Given the description of an element on the screen output the (x, y) to click on. 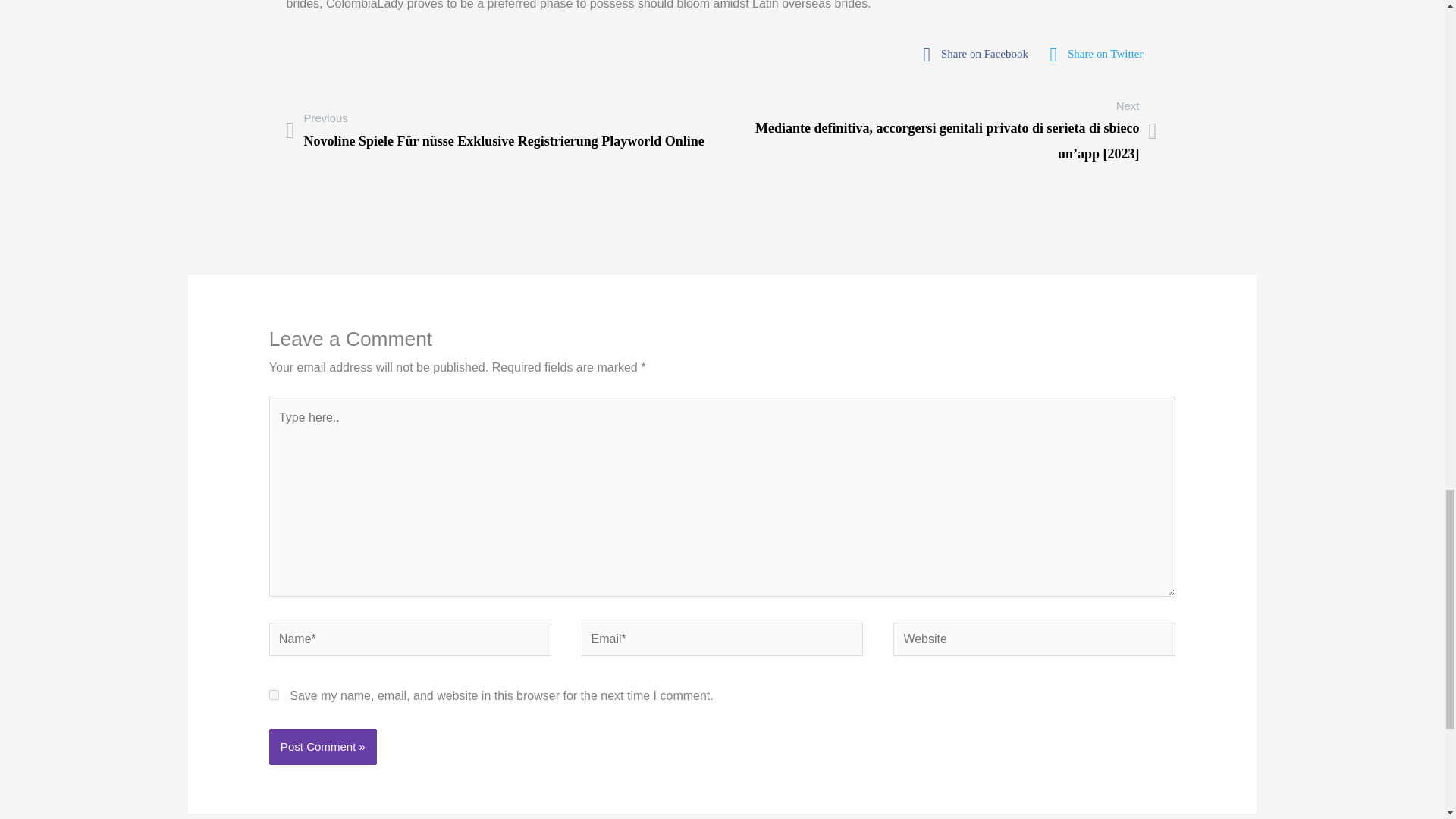
fab fa-twitter-square (1100, 53)
yes (274, 695)
fab fa-facebook-square (980, 53)
Share on Twitter (1100, 53)
Share on Facebook (980, 53)
